Given the description of an element on the screen output the (x, y) to click on. 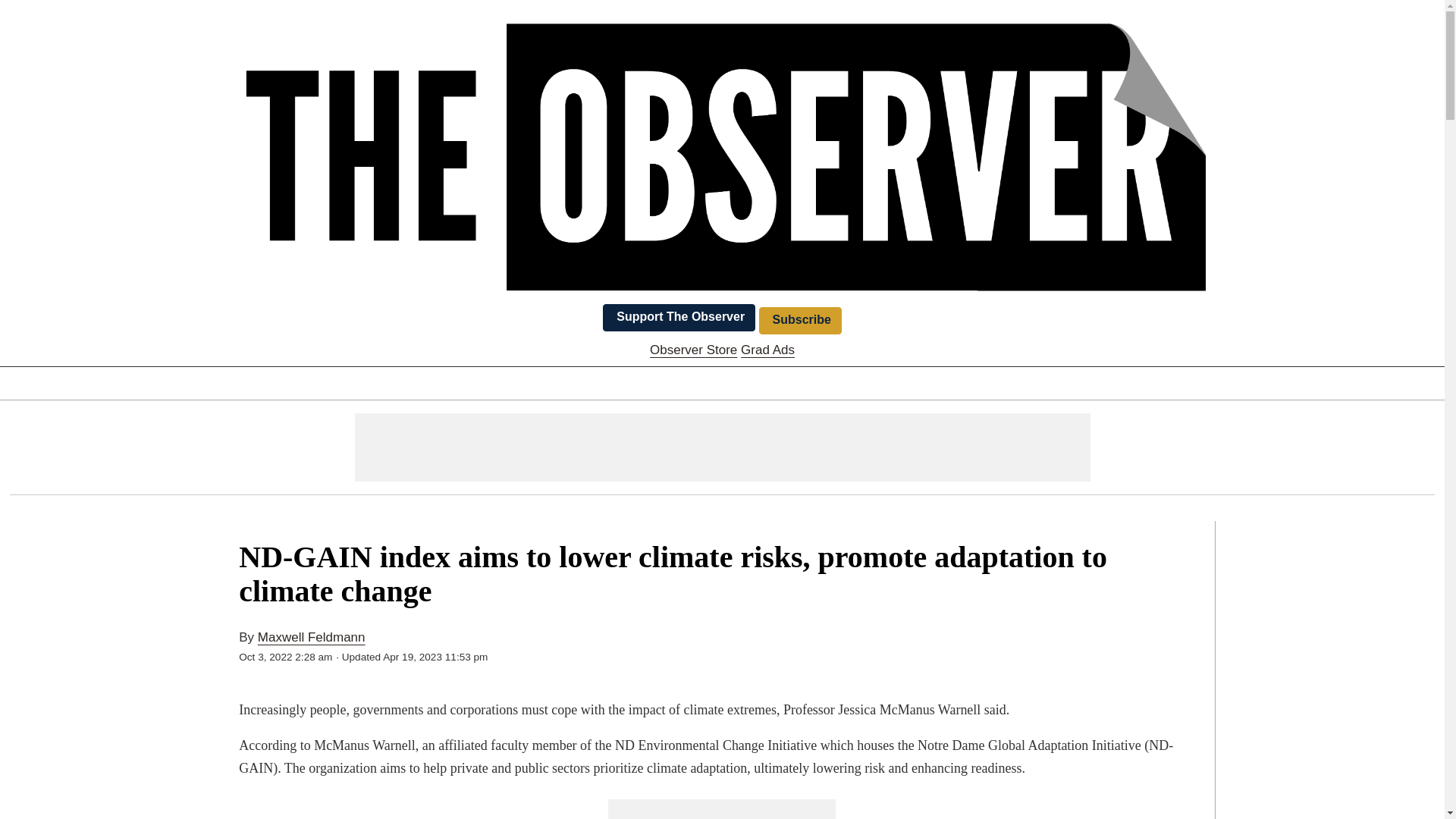
Grad Ads (767, 350)
Subscribe (799, 320)
Observer Store (692, 350)
Support The Observer (678, 317)
